Given the description of an element on the screen output the (x, y) to click on. 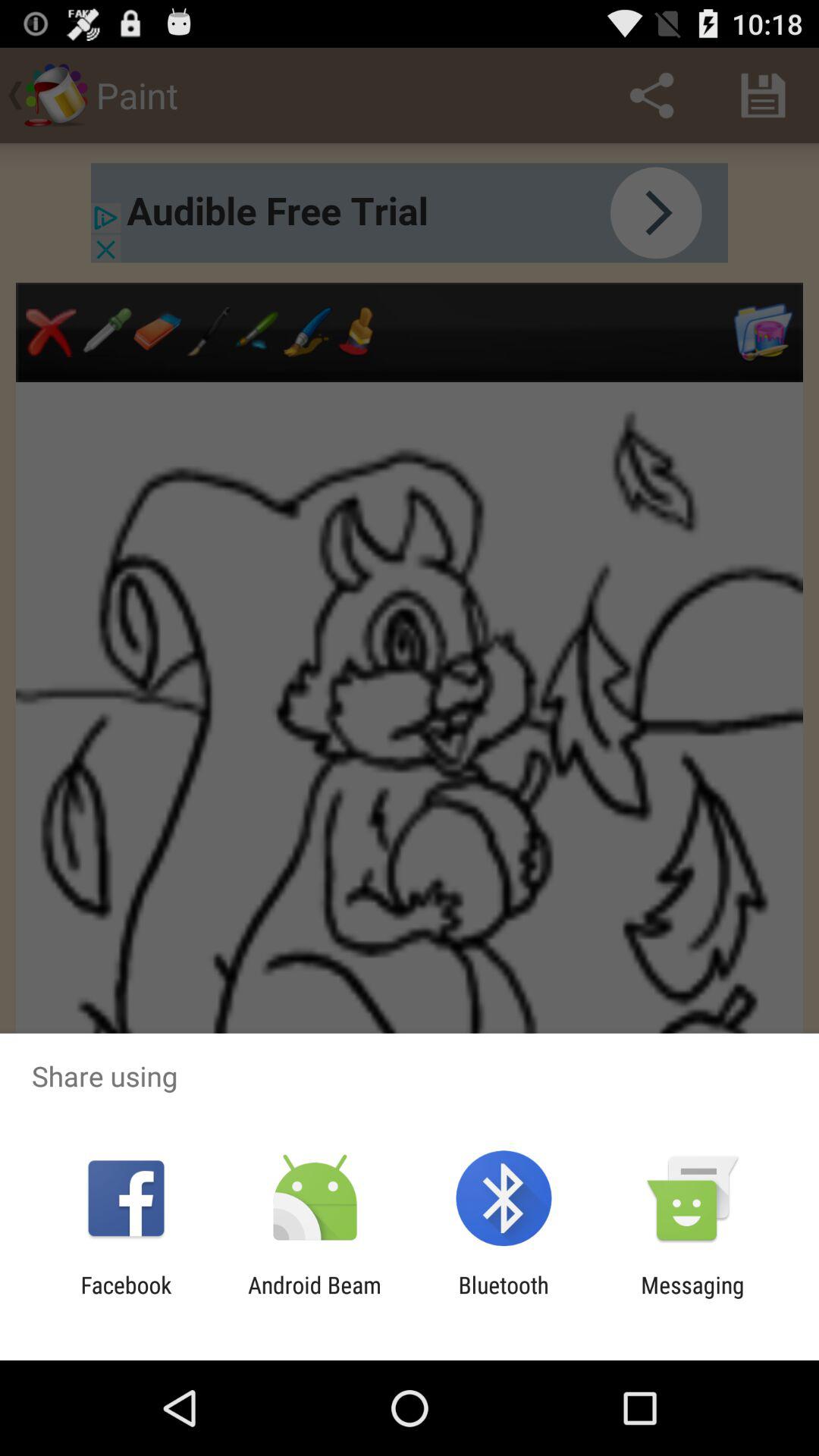
tap the bluetooth icon (503, 1298)
